Given the description of an element on the screen output the (x, y) to click on. 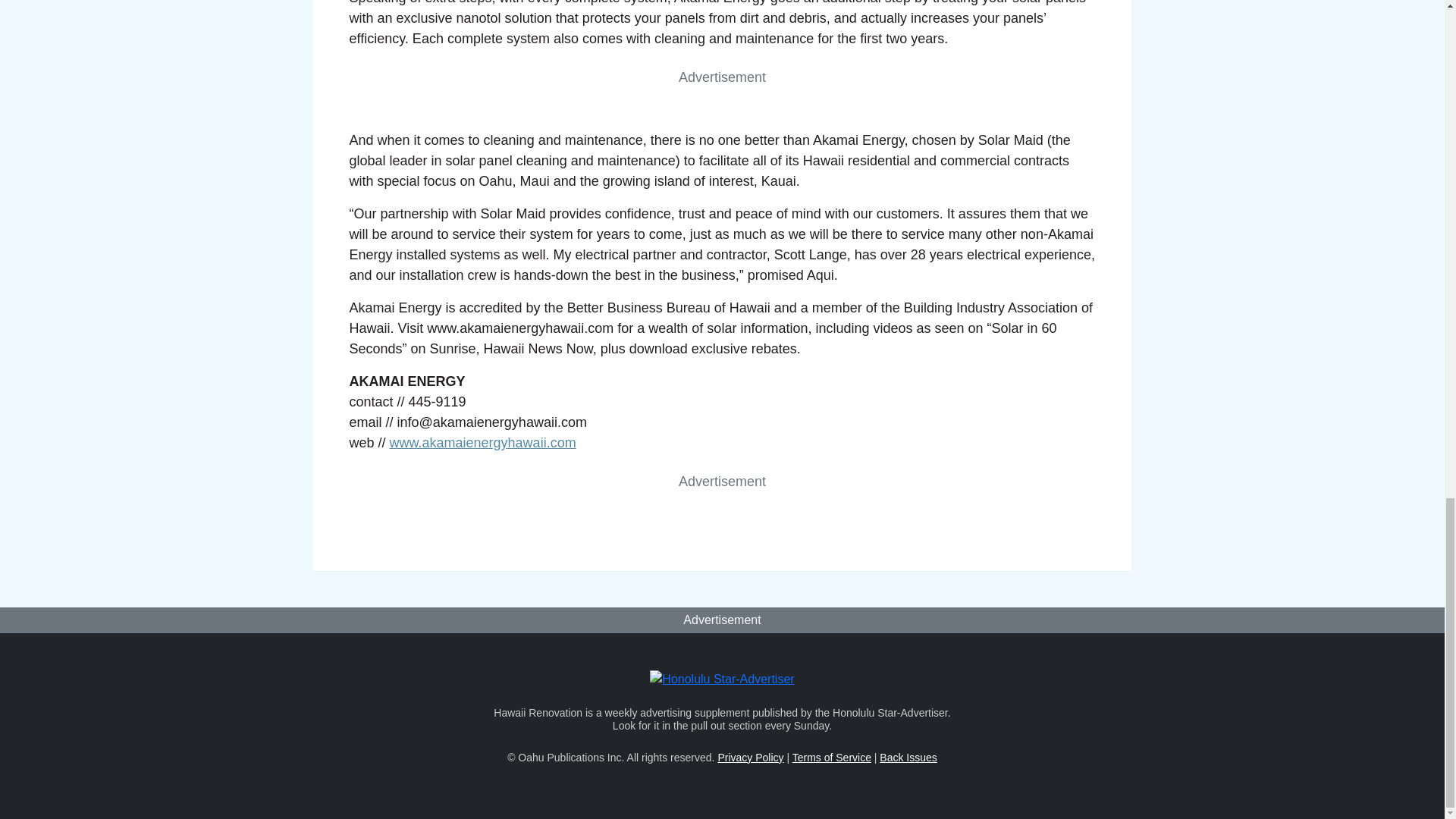
Back Issues (907, 757)
Terms of Service (831, 757)
www.akamaienergyhawaii.com (483, 442)
Privacy Policy (750, 757)
